Given the description of an element on the screen output the (x, y) to click on. 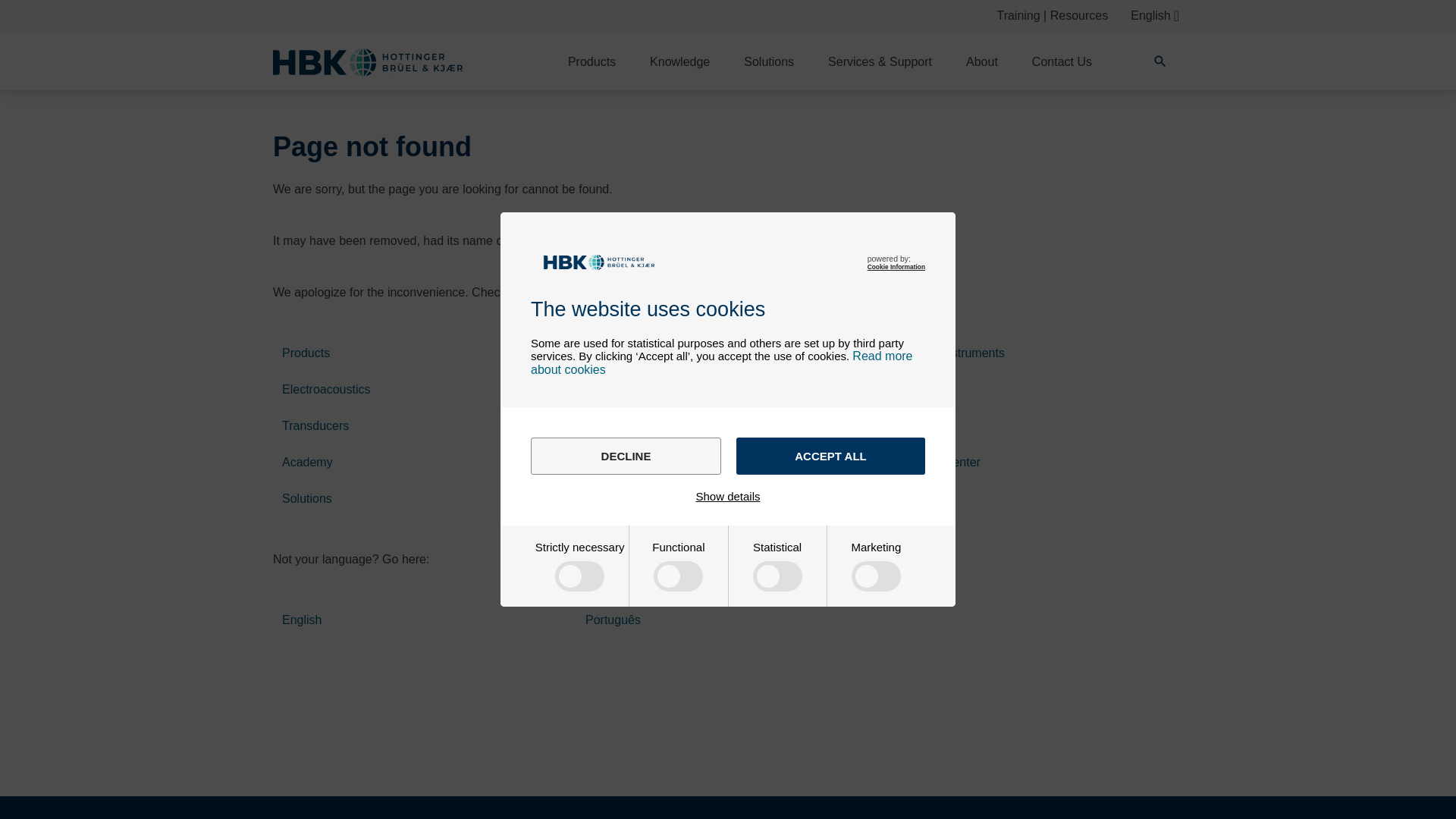
Cookie Information (895, 266)
ACCEPT ALL (830, 456)
Read more about cookies (721, 362)
DECLINE (625, 456)
Show details (727, 495)
